Given the description of an element on the screen output the (x, y) to click on. 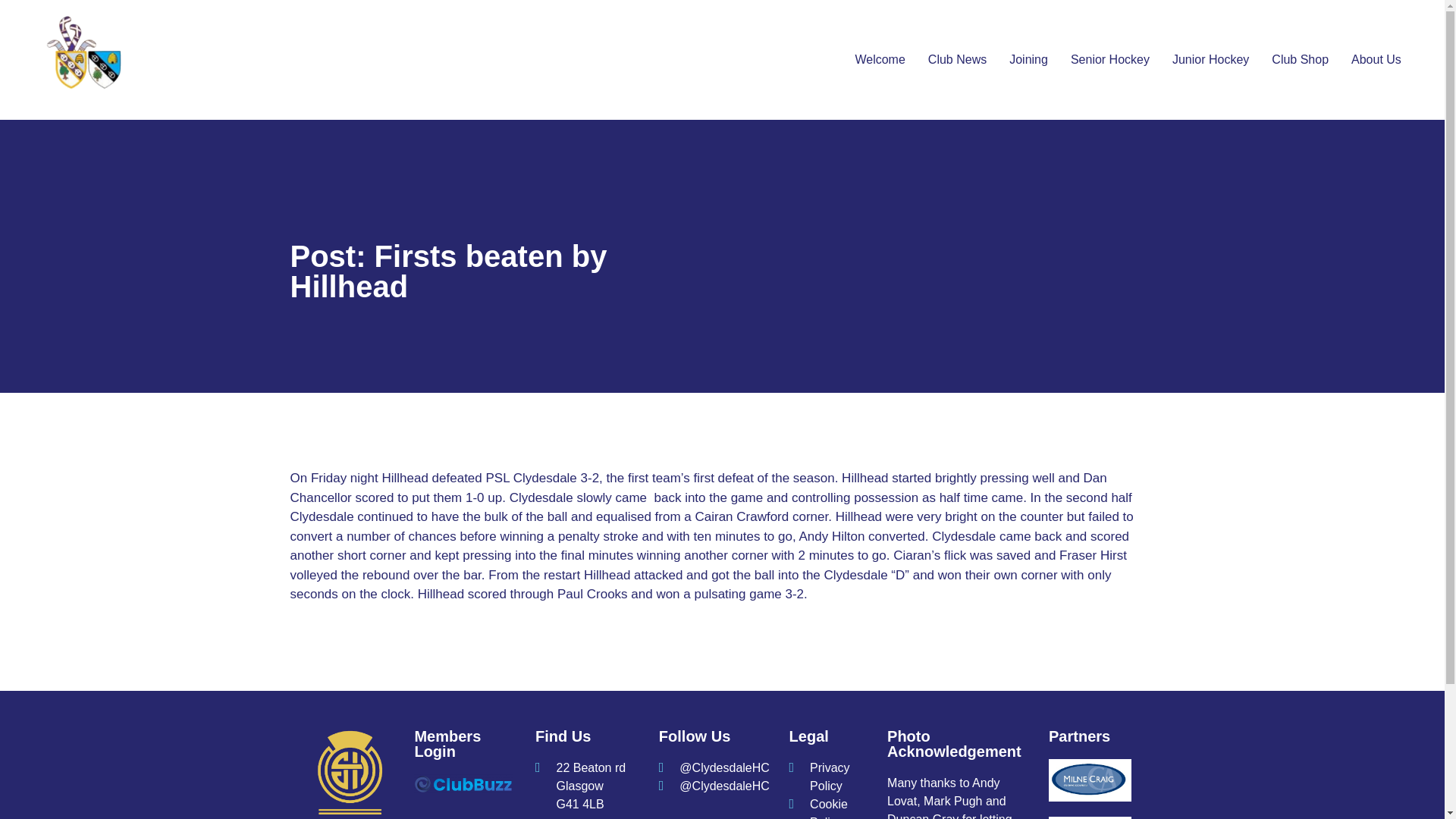
Senior Hockey (1110, 59)
Club News (957, 59)
Welcome (879, 59)
Club Shop (1299, 59)
About Us (1375, 59)
Joining (1028, 59)
Junior Hockey (1210, 59)
News (957, 59)
